Given the description of an element on the screen output the (x, y) to click on. 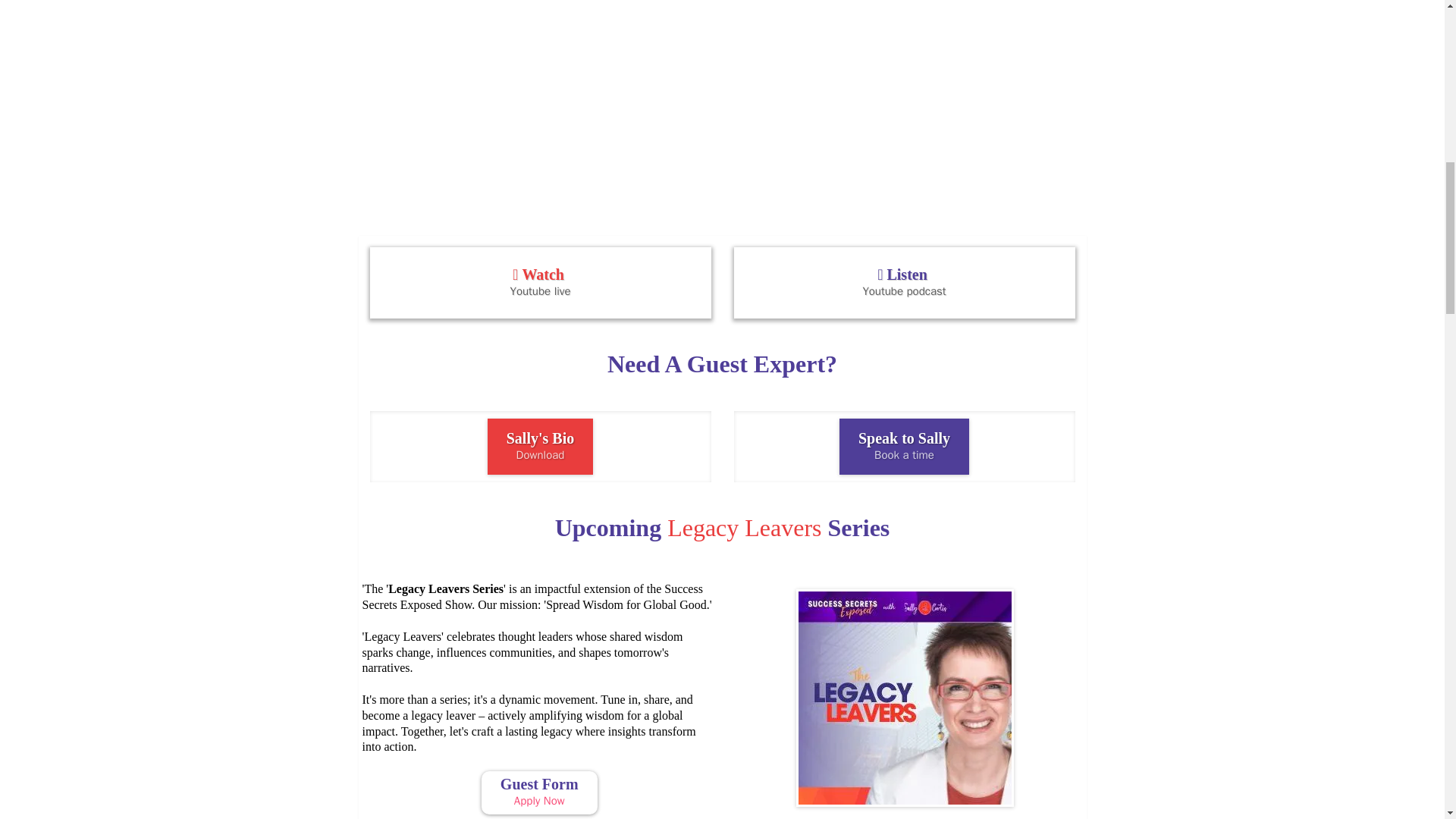
narratives. (538, 792)
